Given the description of an element on the screen output the (x, y) to click on. 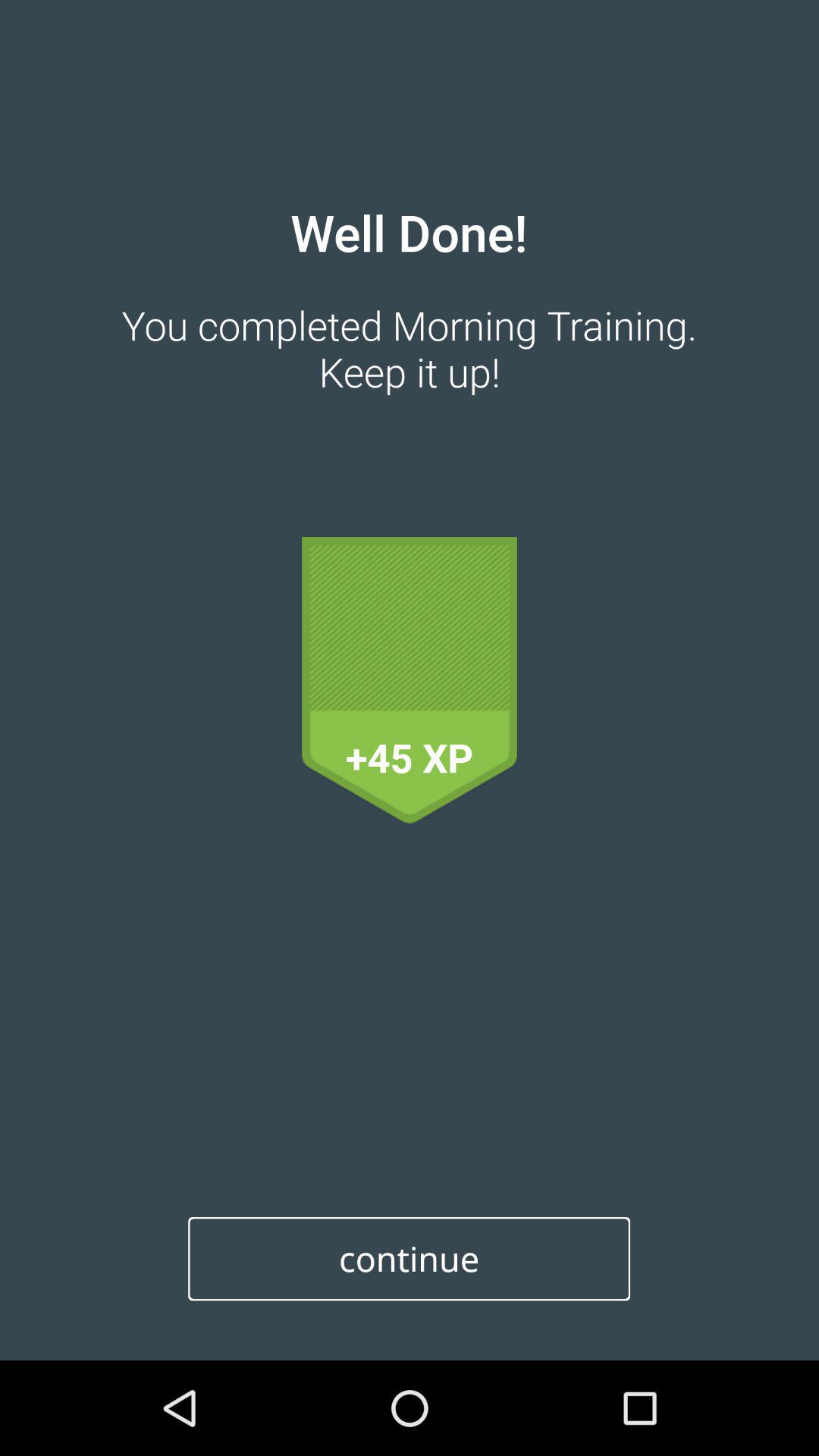
swipe to the continue (409, 1258)
